Given the description of an element on the screen output the (x, y) to click on. 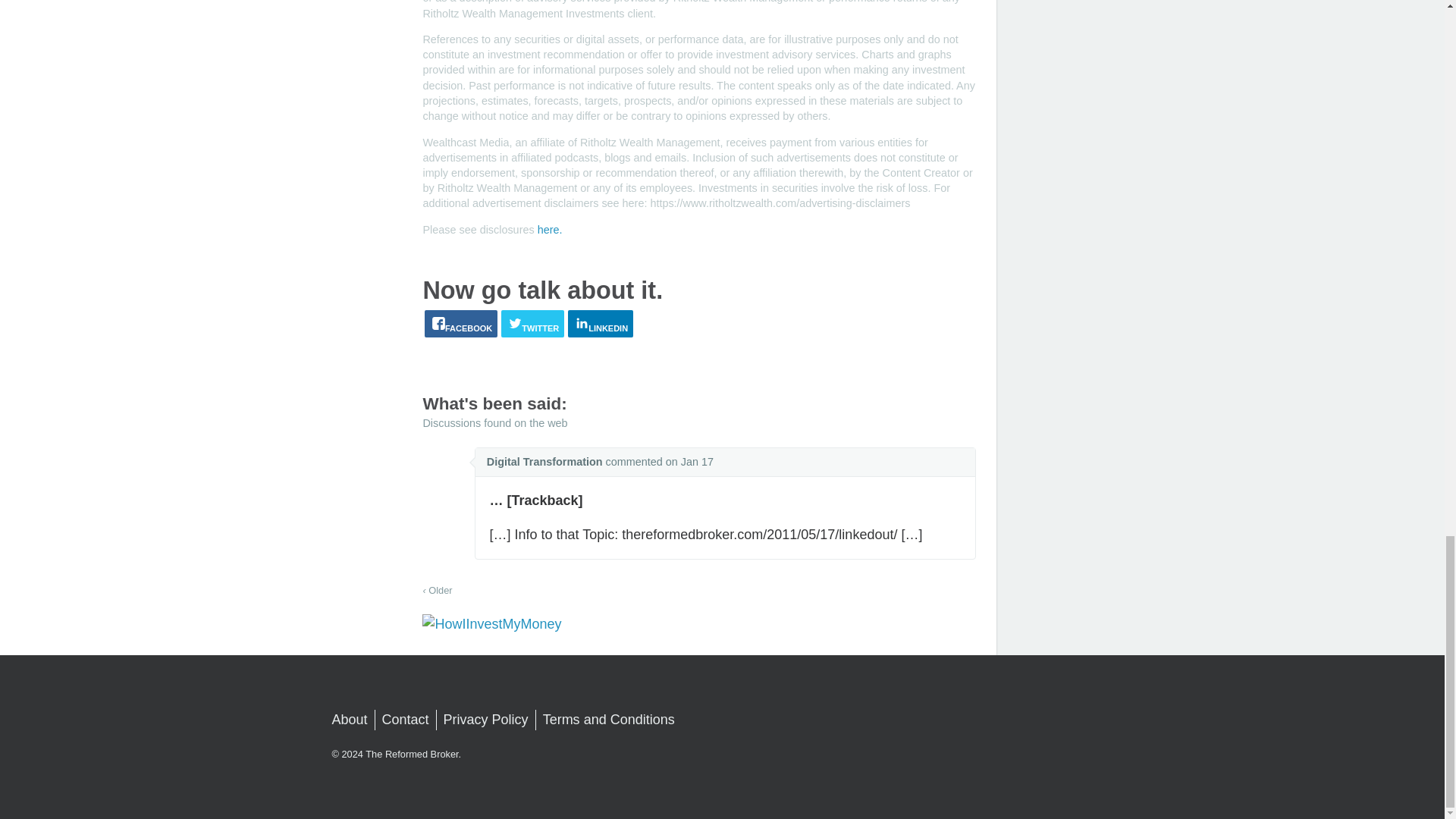
Terms and Conditions (609, 720)
About (349, 720)
TWITTER (532, 323)
here. (549, 229)
LINKEDIN (600, 323)
Privacy Policy (486, 720)
FACEBOOK (461, 323)
Contact (405, 720)
Digital Transformation (544, 461)
